Given the description of an element on the screen output the (x, y) to click on. 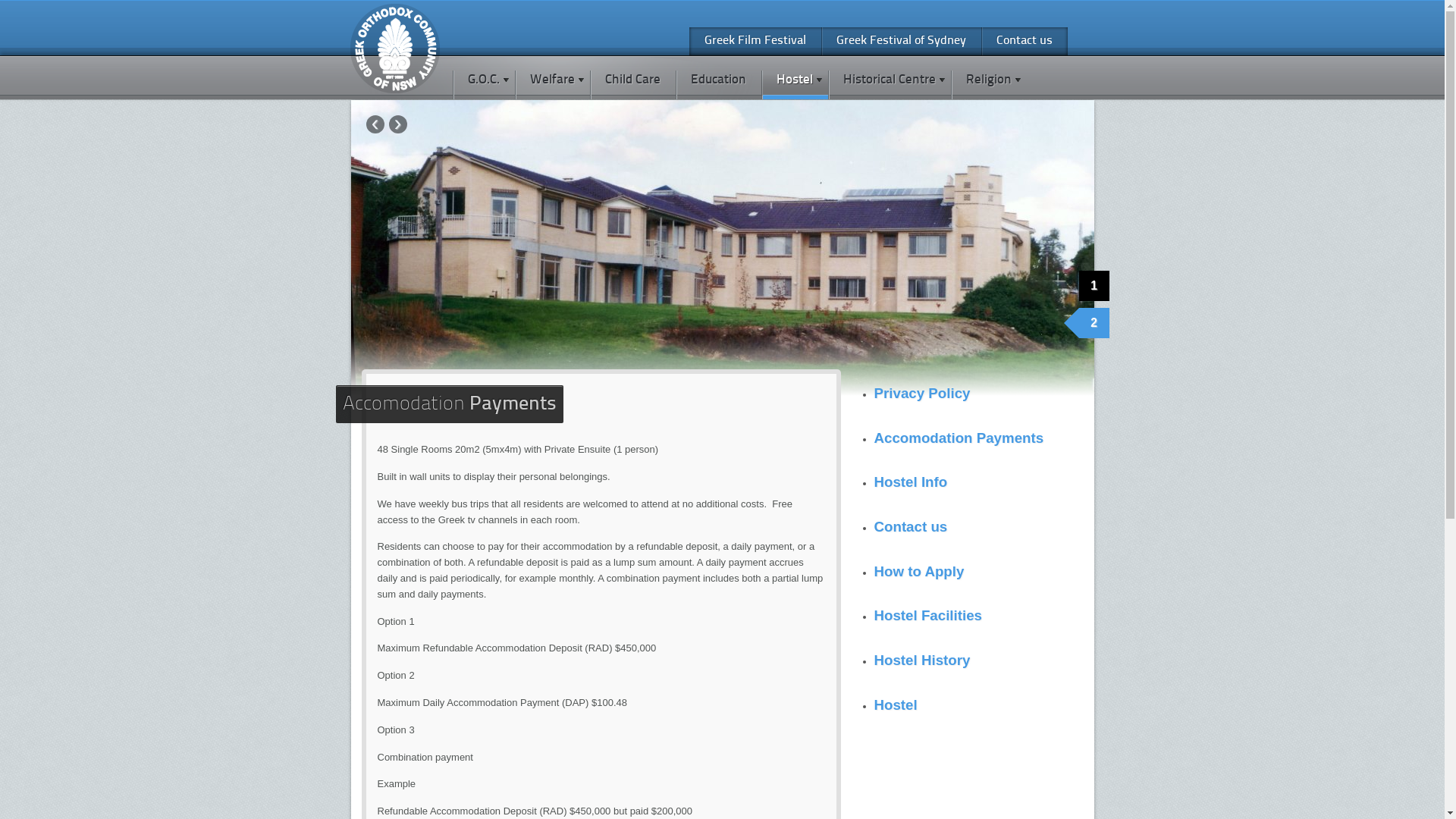
Greek Film Festival Element type: text (754, 41)
Privacy Policy Element type: text (921, 393)
Welfare Element type: text (551, 77)
Hostel Element type: text (894, 704)
Child Care Element type: text (632, 77)
G.O.C. Element type: text (482, 77)
Historical Centre Element type: text (889, 77)
Accomodation Payments Element type: text (449, 404)
Accomodation Payments Element type: text (958, 437)
Hostel Facilities Element type: text (927, 615)
Education Element type: text (717, 77)
Contact us Element type: text (1024, 41)
Hostel Info Element type: text (910, 481)
Hostel History Element type: text (921, 660)
How to Apply Element type: text (918, 571)
Hostel Element type: text (794, 77)
Contact us Element type: text (910, 526)
Greek Festival of Sydney Element type: text (900, 41)
Religion Element type: text (988, 77)
